Given the description of an element on the screen output the (x, y) to click on. 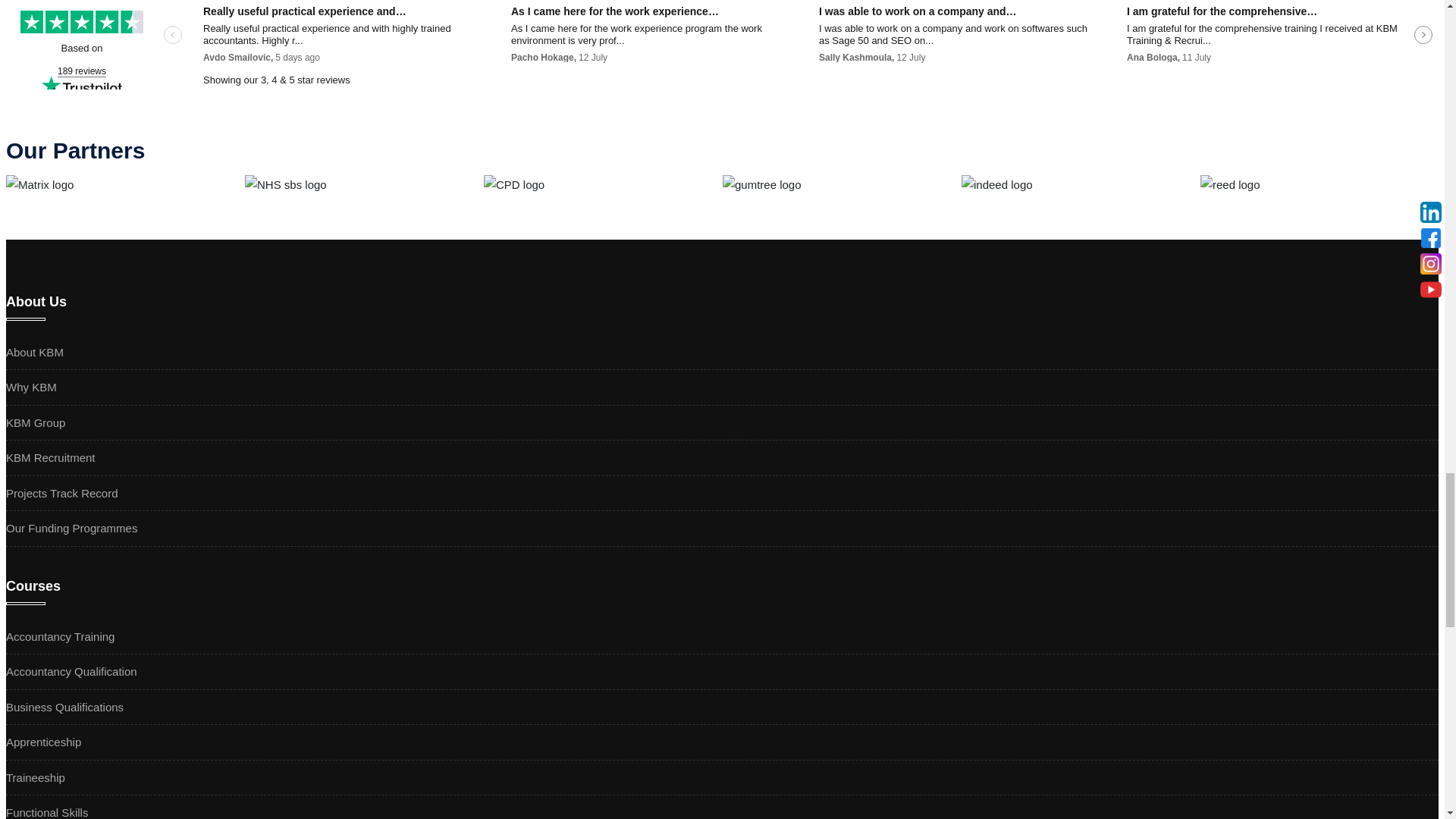
Customer reviews powered by Trustpilot (721, 44)
